Given the description of an element on the screen output the (x, y) to click on. 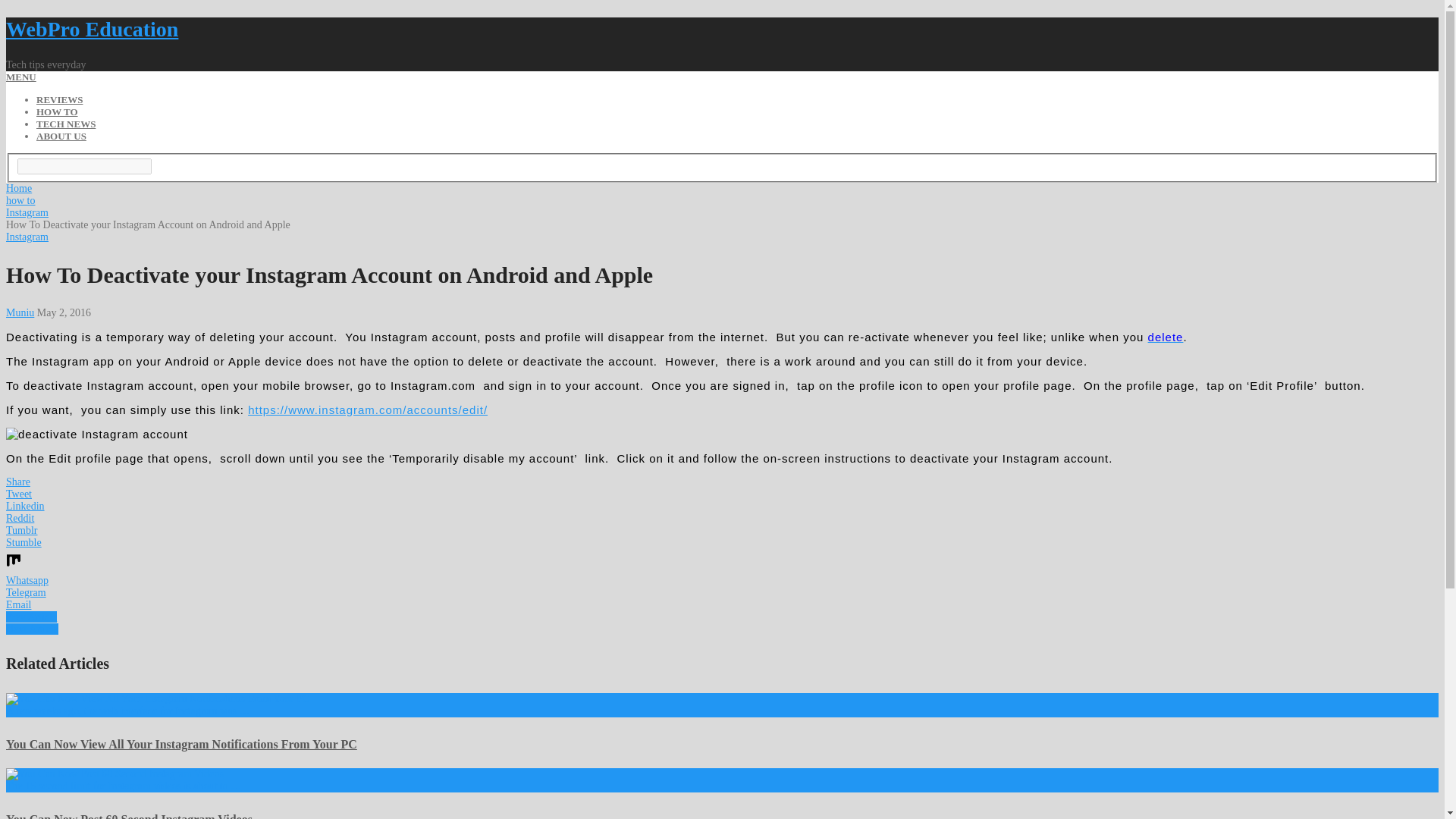
MENU (20, 76)
Instagram (26, 236)
Next Article (31, 628)
TECH NEWS (66, 123)
Posts by Muniu (19, 312)
Home (18, 188)
ABOUT US (60, 135)
Muniu (19, 312)
You Can Now Post 60 Second Instagram Videos (128, 816)
how to (19, 200)
Instagram (26, 212)
You Can Now Post 60 Second Instagram Videos (128, 816)
HOW TO (57, 111)
View all posts in Instagram (26, 236)
